Given the description of an element on the screen output the (x, y) to click on. 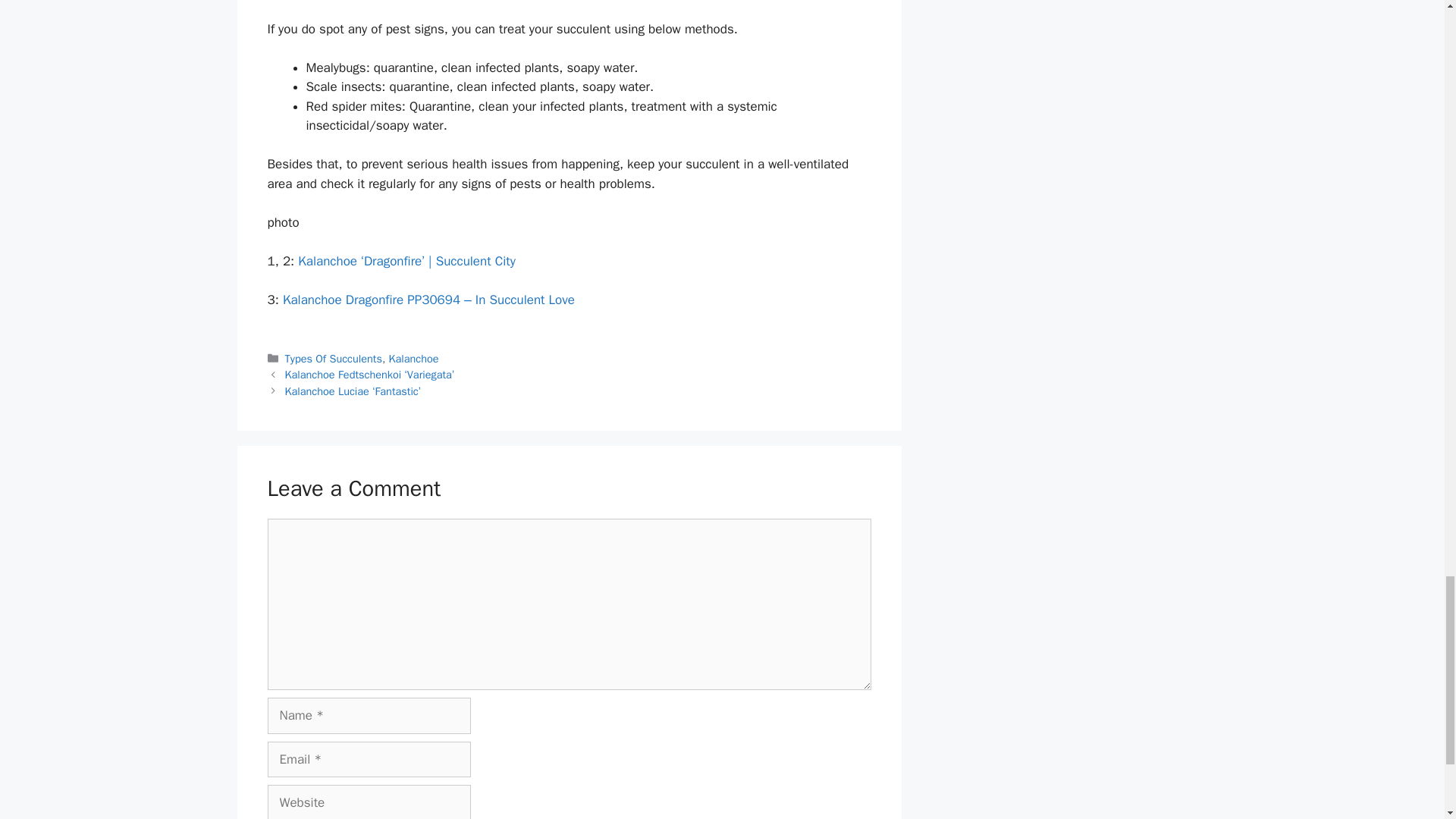
Kalanchoe (413, 358)
Types Of Succulents (333, 358)
Next (352, 391)
Previous (369, 374)
